Given the description of an element on the screen output the (x, y) to click on. 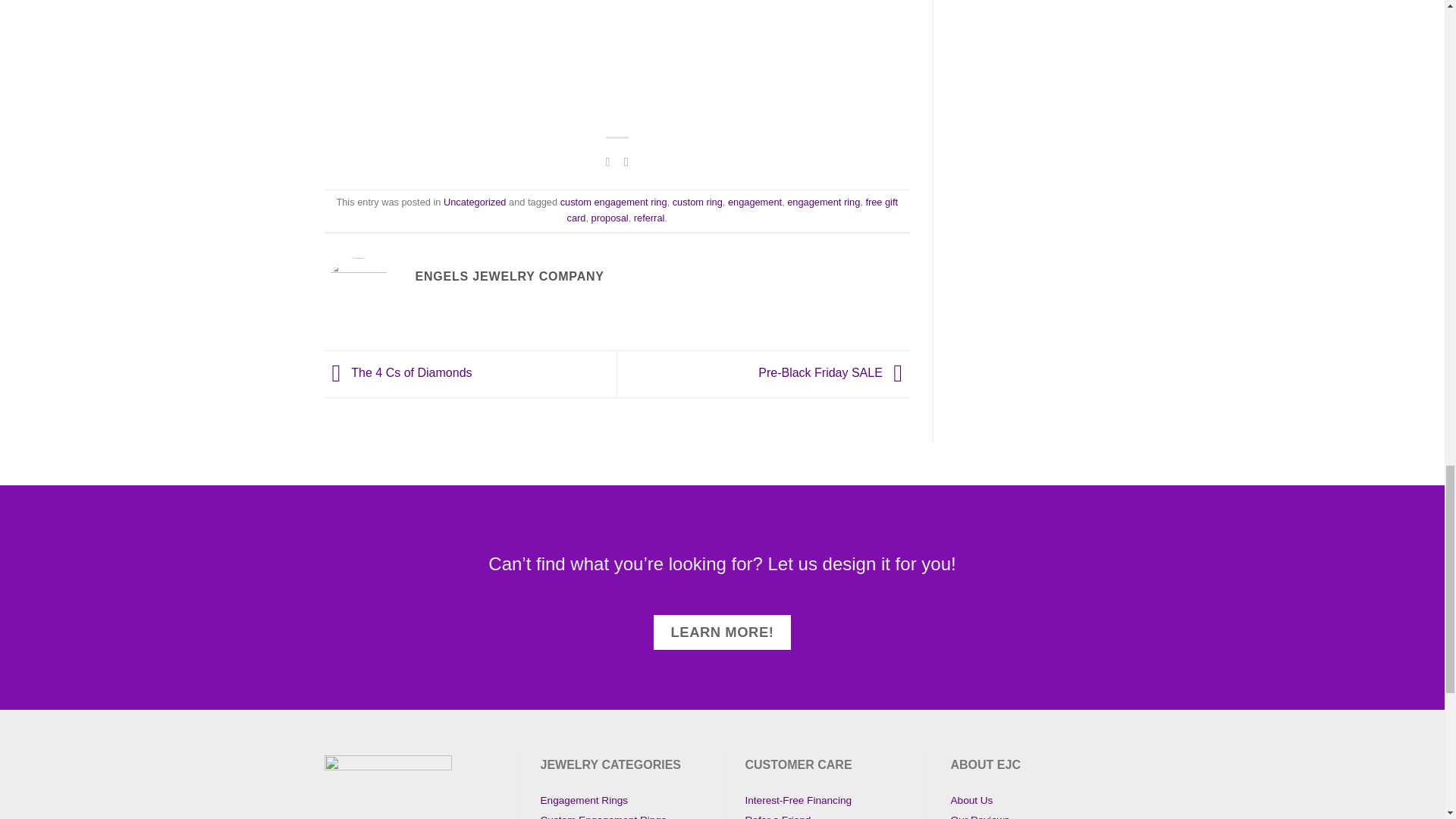
Pin on Pinterest (625, 161)
